Given the description of an element on the screen output the (x, y) to click on. 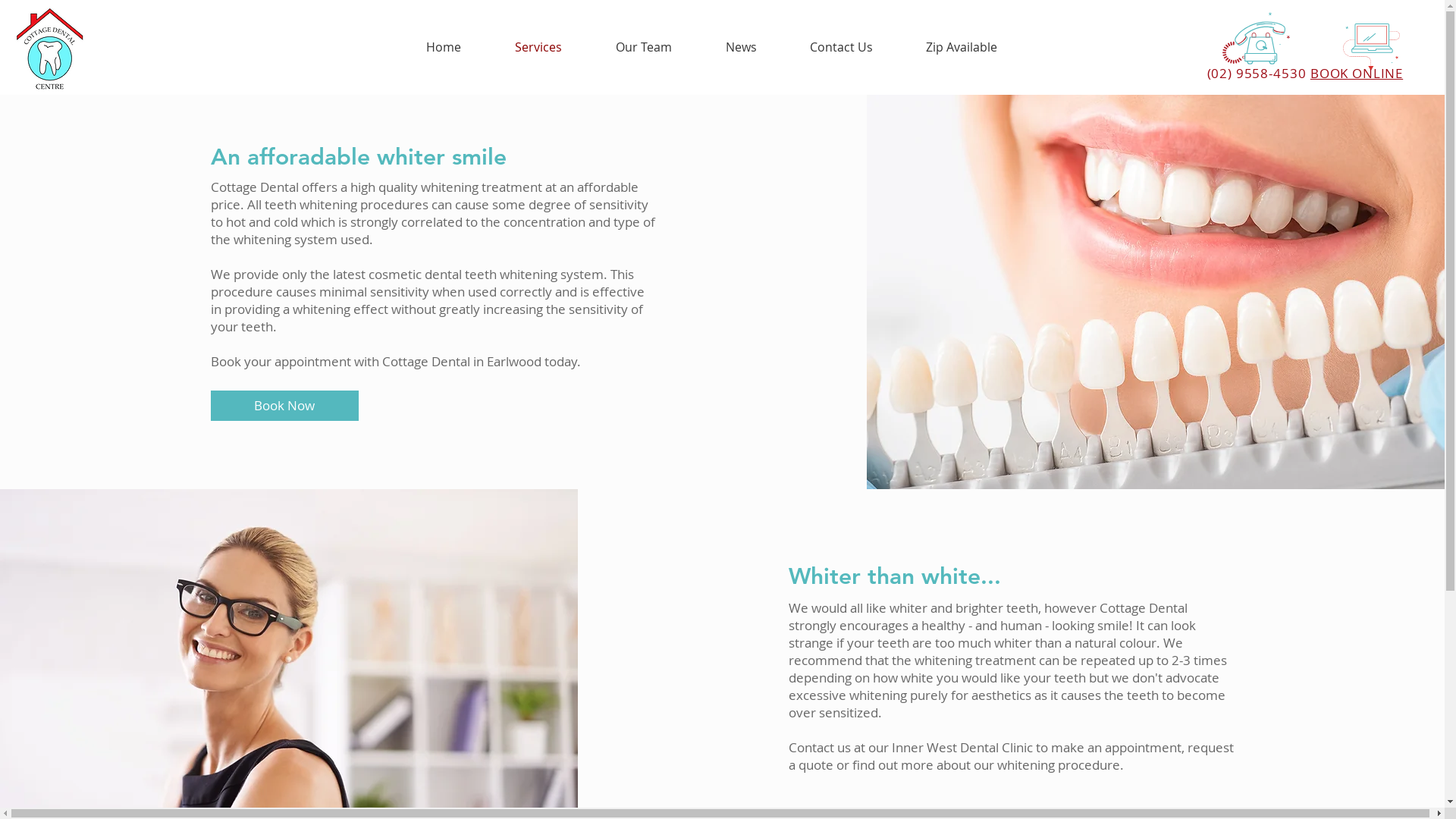
Contact Us Element type: text (840, 46)
News Element type: text (741, 46)
Zip Available Element type: text (961, 46)
Services Element type: text (538, 46)
BOOK ONLINE Element type: text (1356, 72)
Home Element type: text (442, 46)
Book Now Element type: text (284, 405)
BOOK ONLINE Element type: text (1244, 72)
Our Team Element type: text (643, 46)
BOOK ONLINE Element type: text (1244, 74)
(02) 9558-4530 Element type: text (1256, 72)
